Given the description of an element on the screen output the (x, y) to click on. 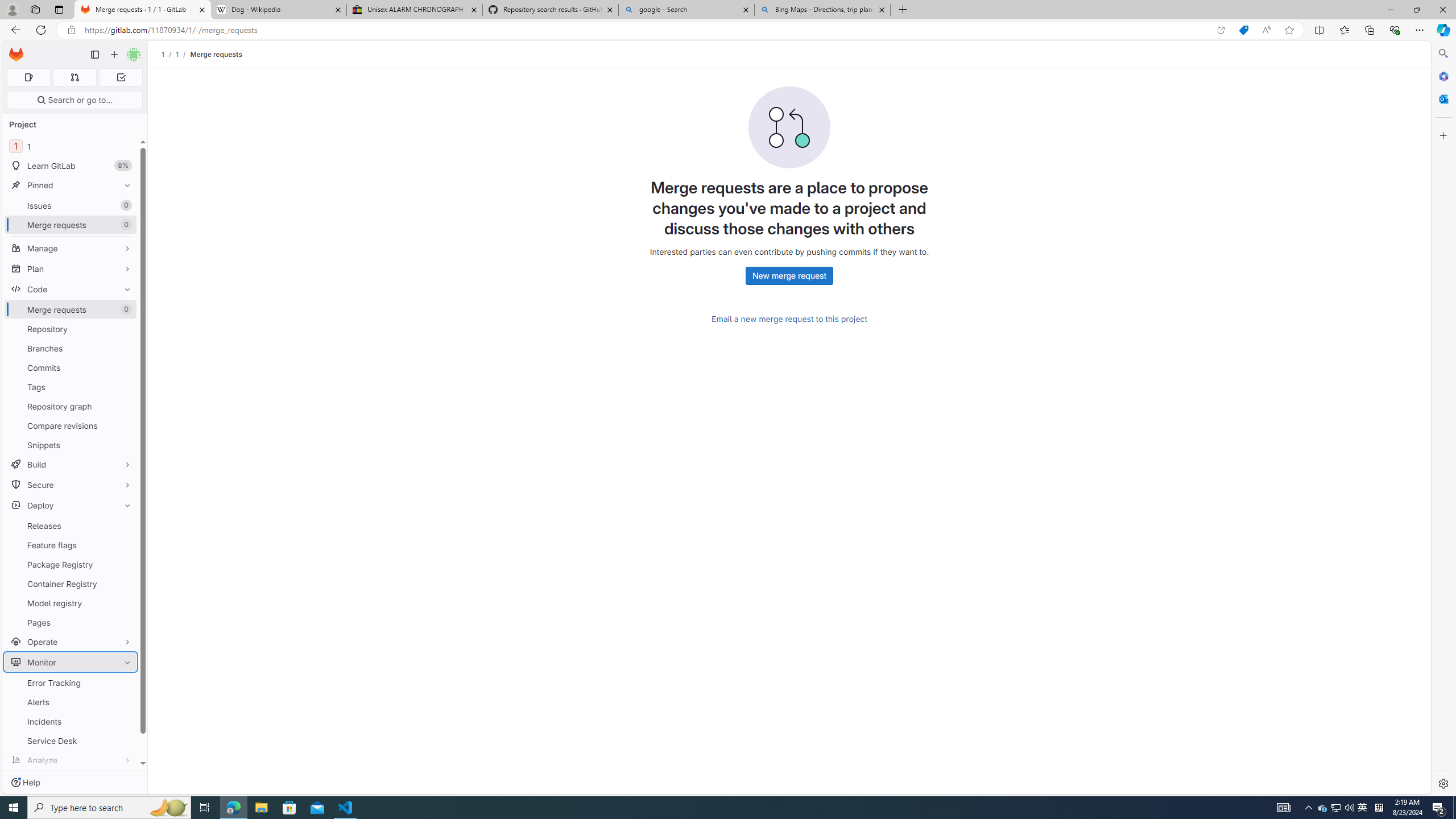
Learn GitLab 8% (70, 165)
11 (70, 145)
Pin Service Desk (124, 740)
Unpin Issues (124, 205)
Compare revisions (70, 425)
New merge request (789, 275)
Pin Model registry (124, 603)
Plan (70, 268)
Pinned (70, 185)
Unpin Merge requests (124, 309)
